Given the description of an element on the screen output the (x, y) to click on. 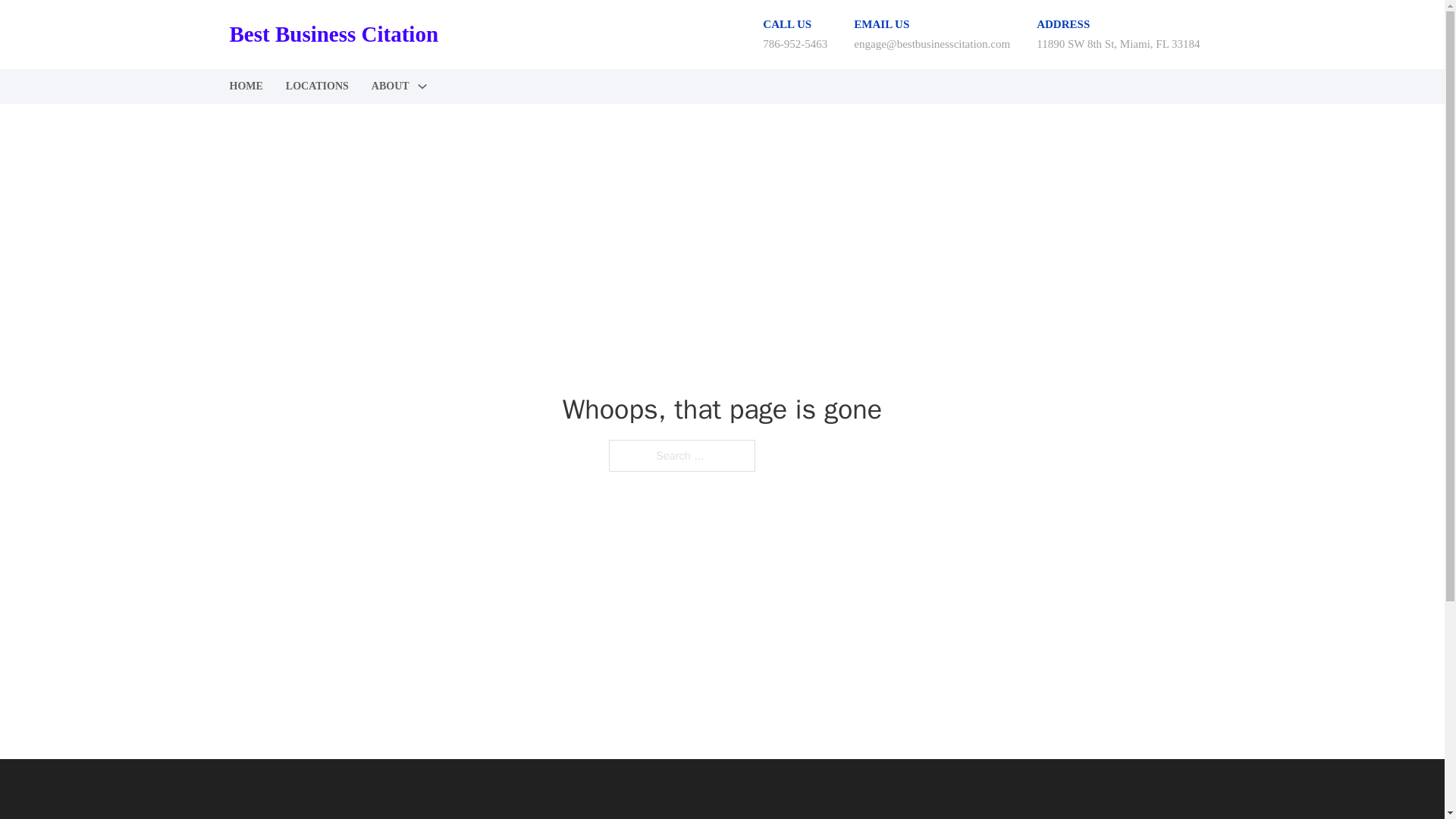
LOCATIONS (317, 85)
786-952-5463 (794, 43)
HOME (245, 85)
Best Business Citation (333, 34)
